Given the description of an element on the screen output the (x, y) to click on. 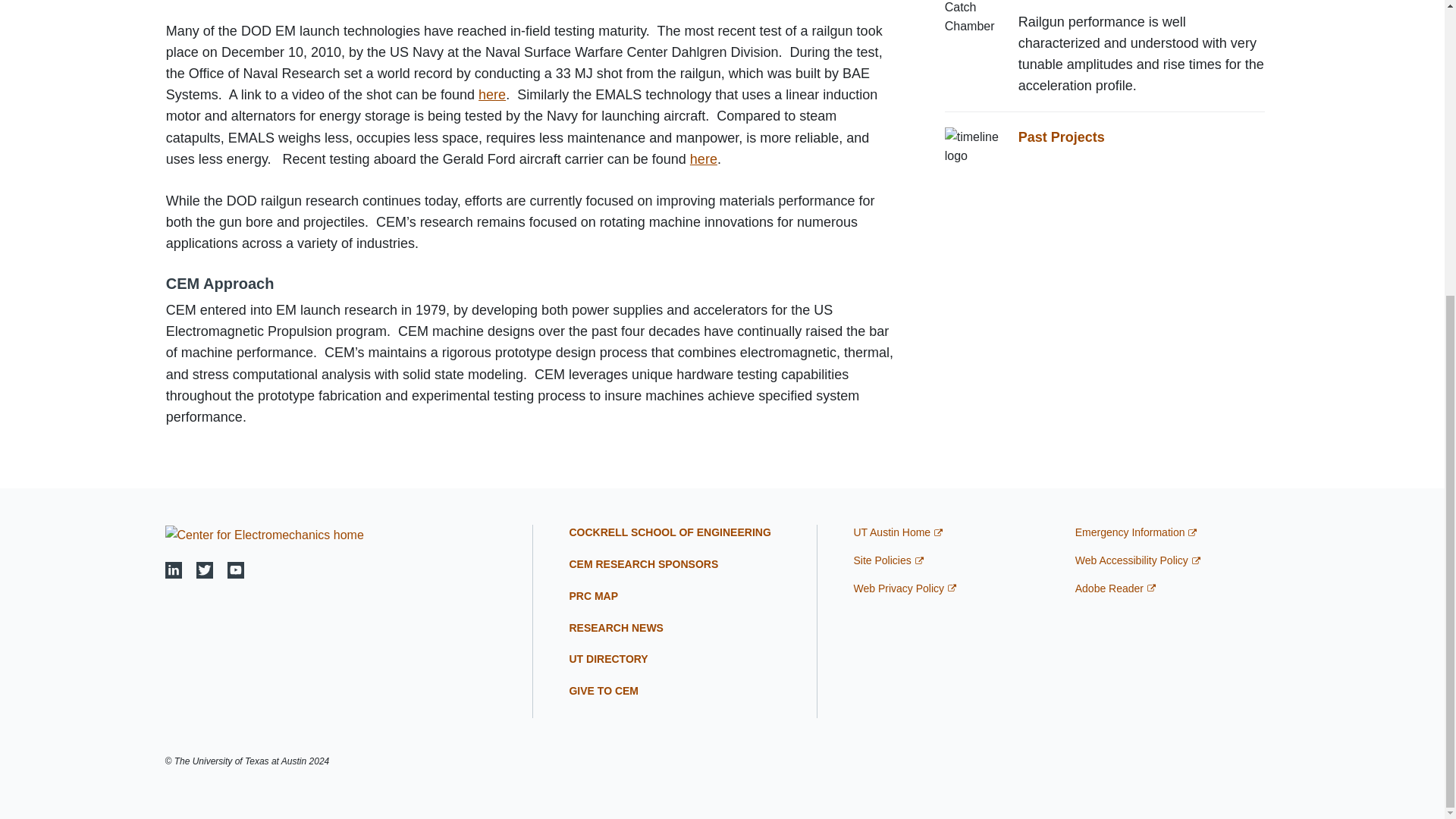
LinkedinFind us on Linkedin (173, 568)
YoutubeSee us on Youtube (235, 569)
Home (264, 533)
here (492, 94)
here (703, 159)
Past Projects (1061, 136)
LinkedinFind us on Linkedin (173, 569)
TwitterFind us on Twitter (204, 569)
